Given the description of an element on the screen output the (x, y) to click on. 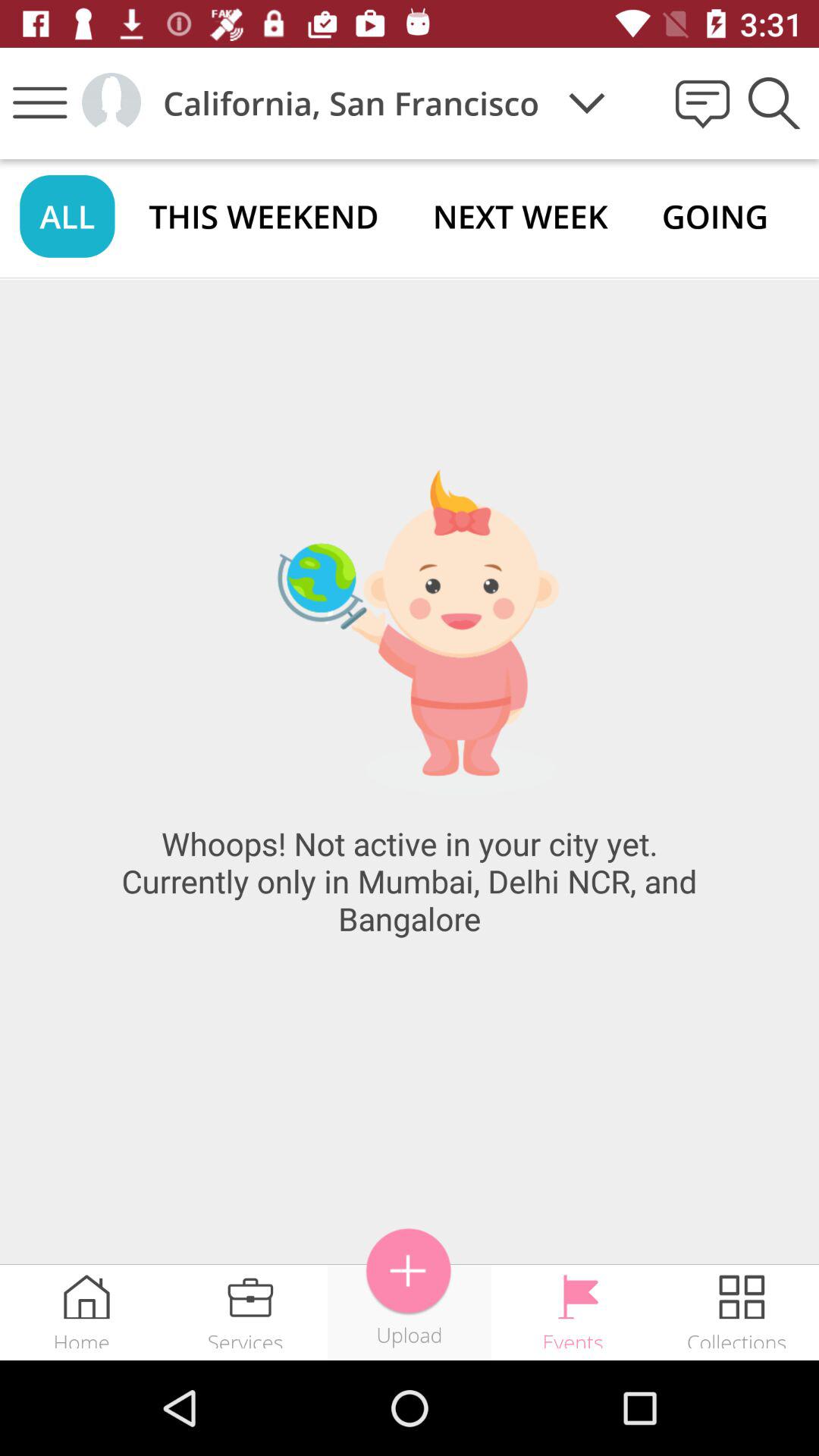
swipe to this weekend item (263, 216)
